Given the description of an element on the screen output the (x, y) to click on. 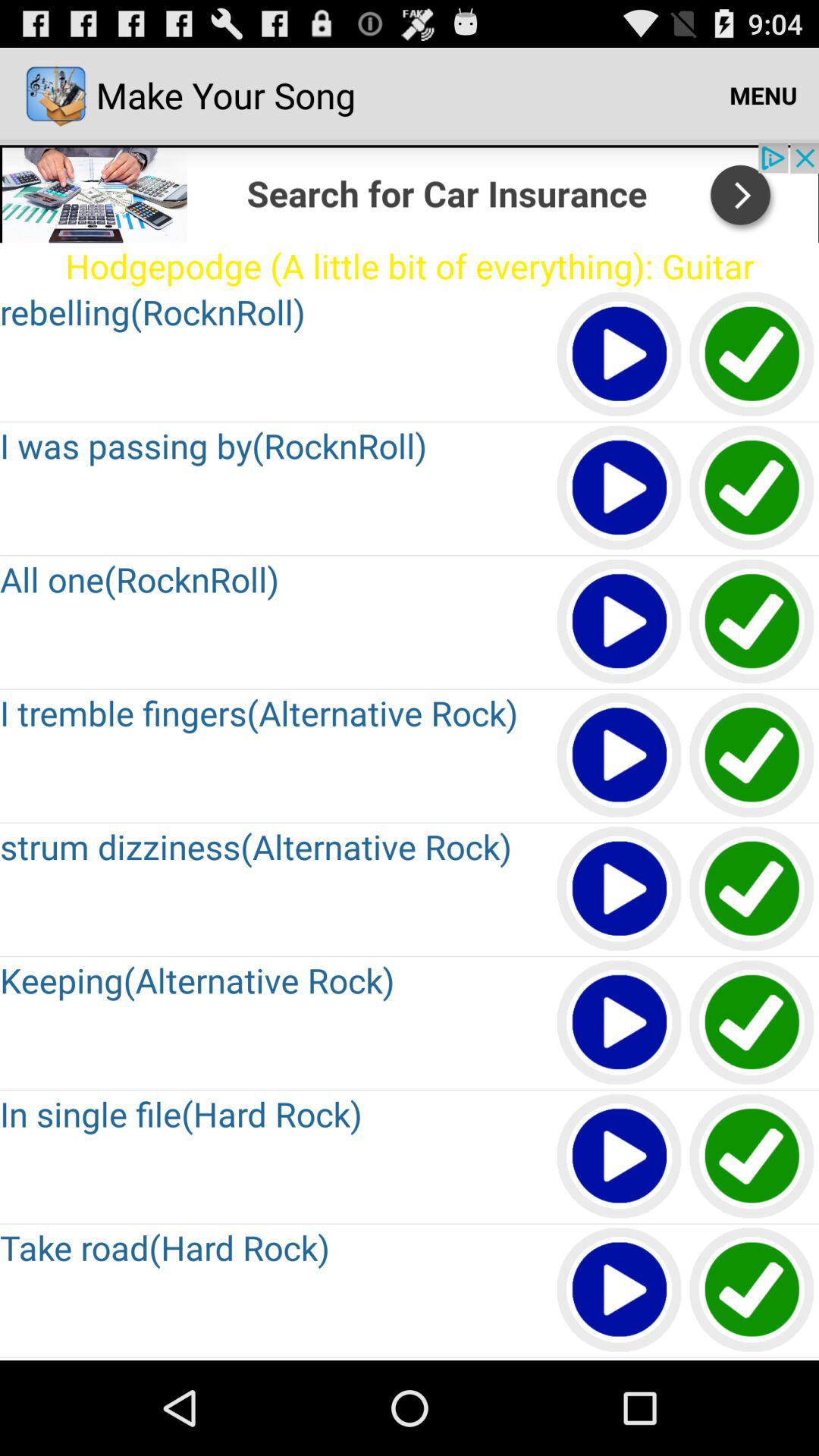
play (619, 1156)
